Given the description of an element on the screen output the (x, y) to click on. 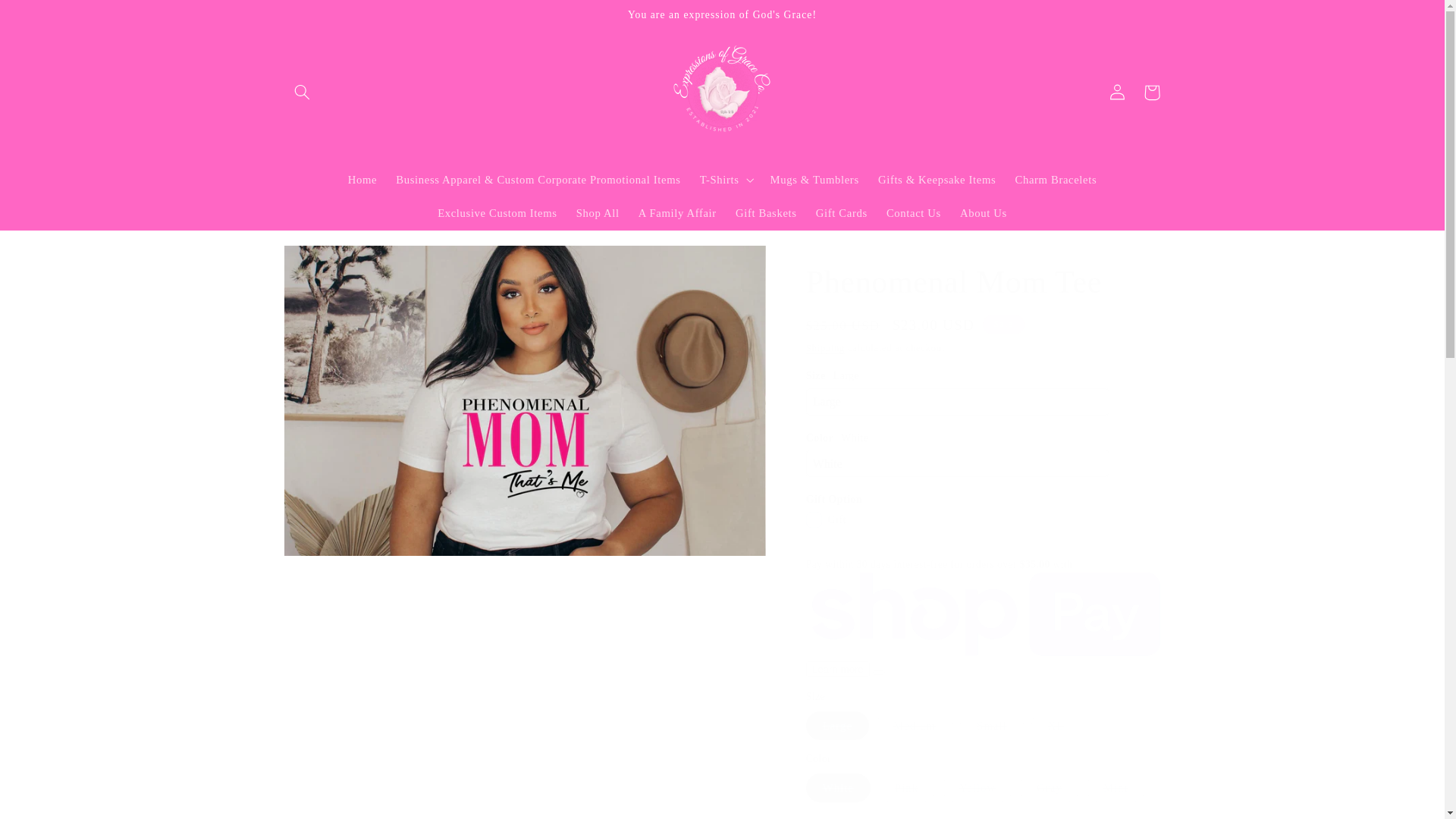
Skip to content (48, 18)
A Family Affair (676, 213)
Gift (814, 519)
Gift Cards (841, 213)
